Given the description of an element on the screen output the (x, y) to click on. 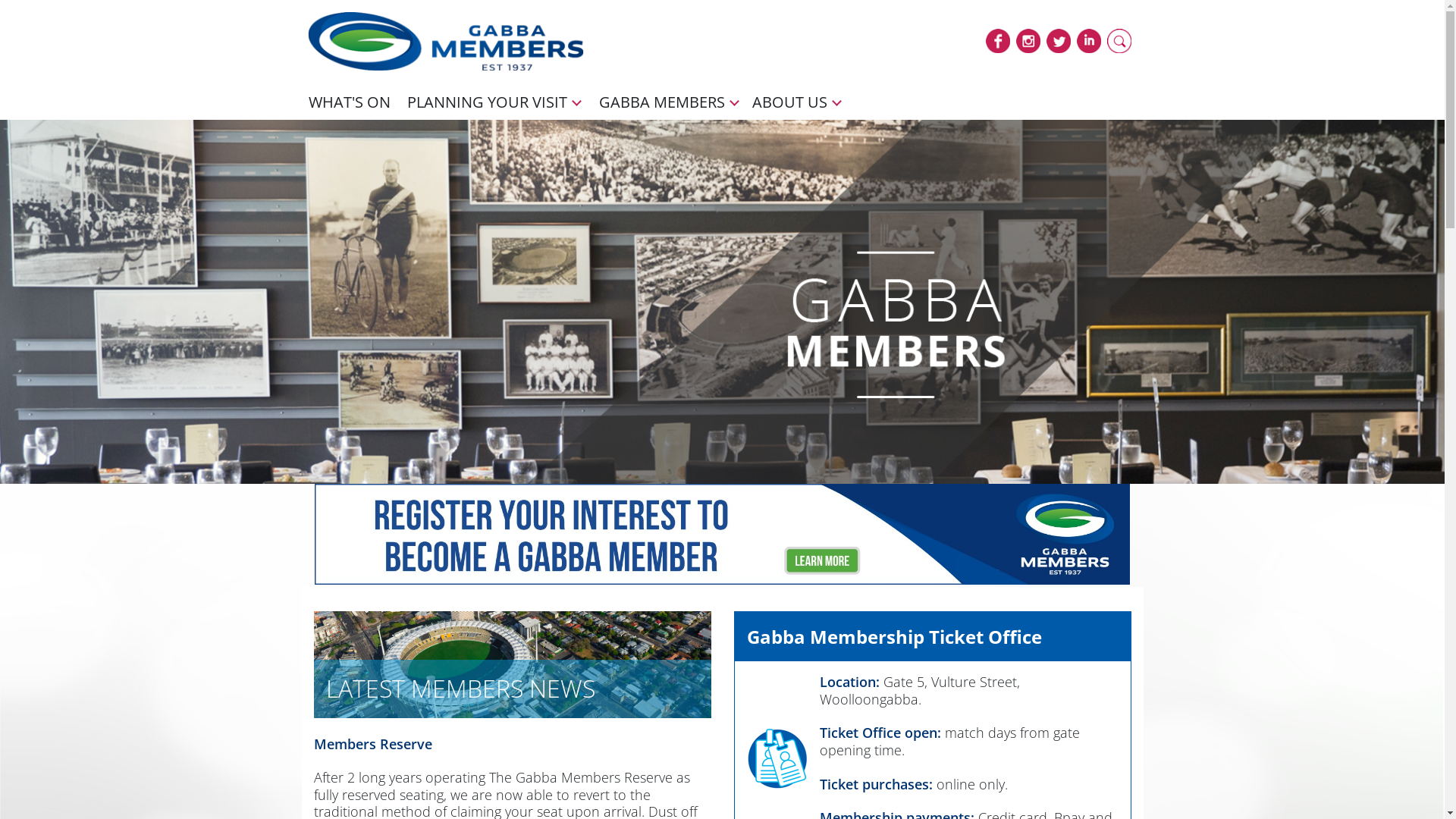
PLANNING YOUR VISIT Element type: text (486, 101)
GO! Element type: text (1181, 76)
WHAT'S ON Element type: text (348, 101)
GABBA MEMBERS Element type: text (661, 101)
ABOUT US Element type: text (789, 101)
